Given the description of an element on the screen output the (x, y) to click on. 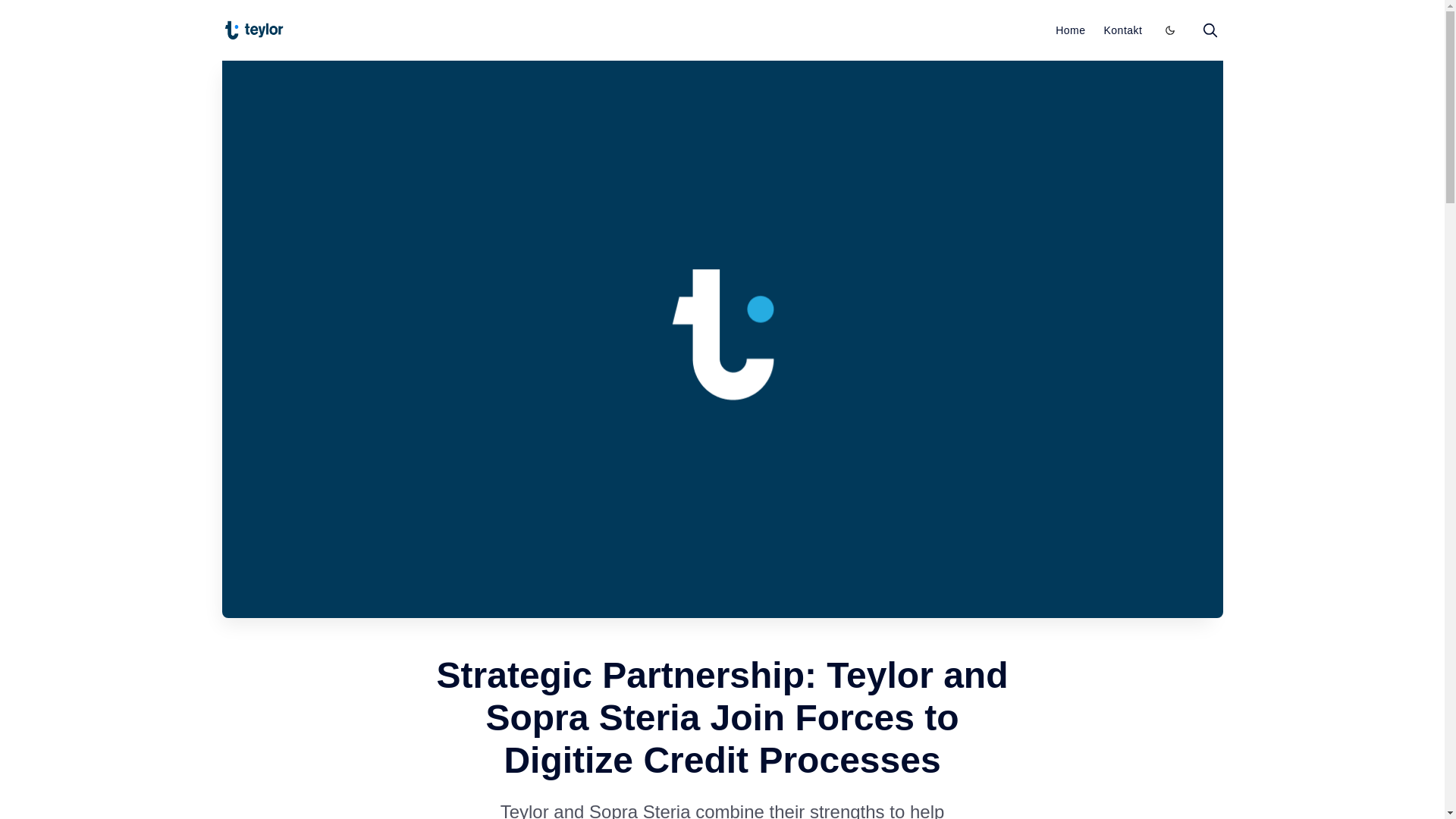
Kontakt (1122, 30)
Enable dark mode (1169, 30)
Enable dark mode (1169, 30)
Home (1069, 30)
